Given the description of an element on the screen output the (x, y) to click on. 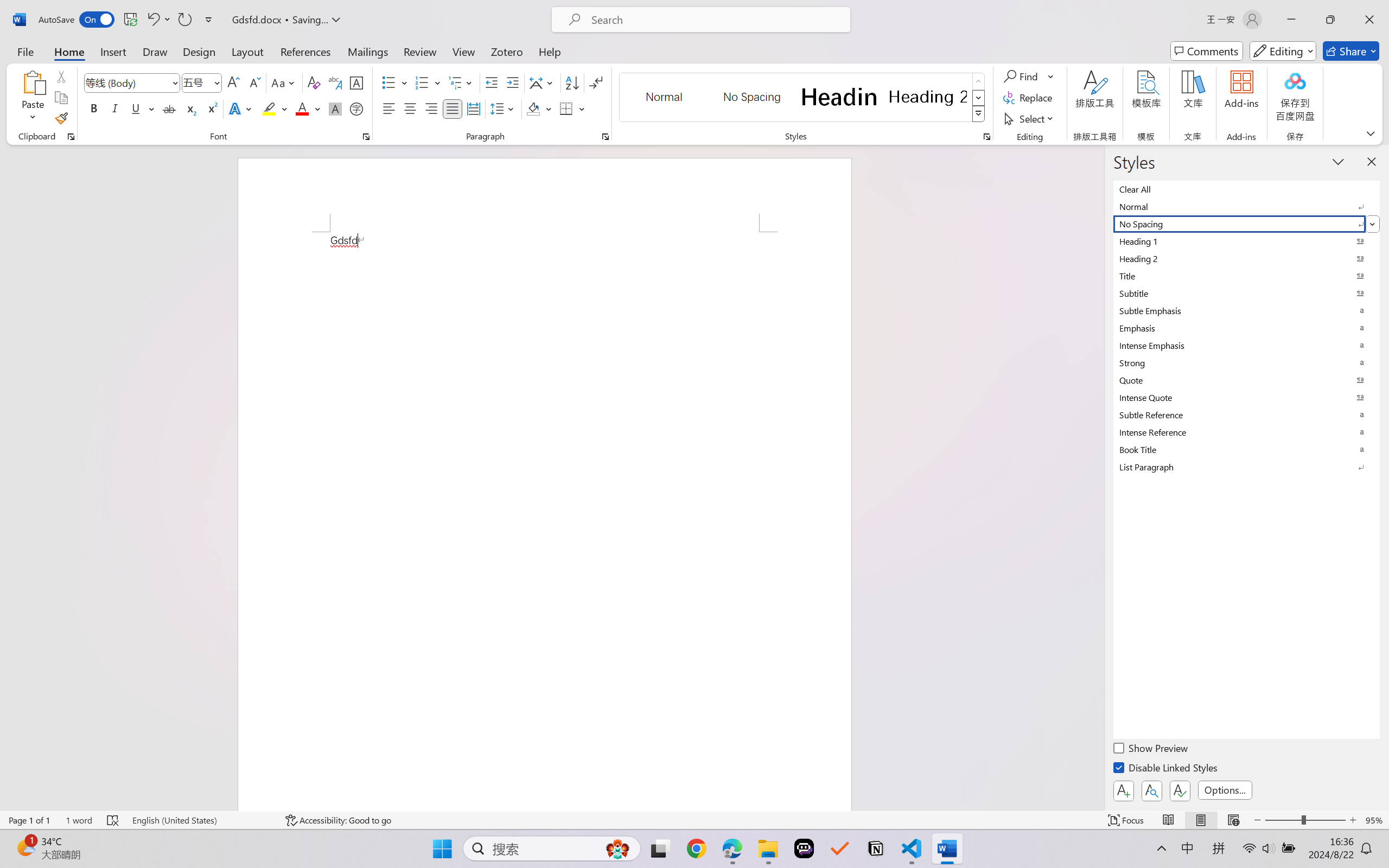
Enclose Characters... (356, 108)
Decrease Indent (491, 82)
Intense Quote (1246, 397)
Options... (1224, 789)
Format Painter (60, 118)
List Paragraph (1246, 466)
Book Title (1246, 449)
Styles... (986, 136)
